Given the description of an element on the screen output the (x, y) to click on. 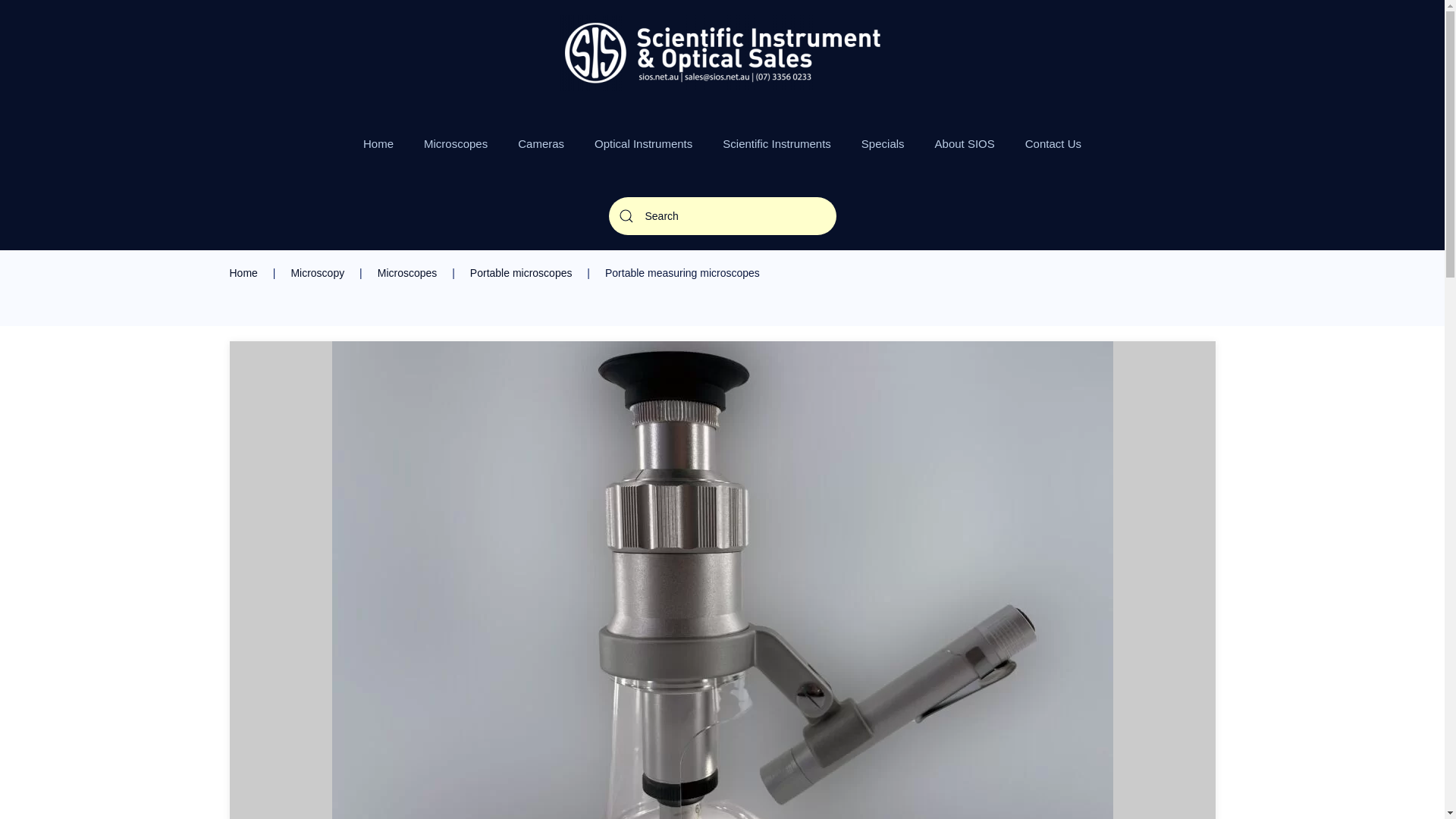
Scientific Instruments Element type: text (776, 144)
About SIOS Element type: text (964, 144)
Microscopes Element type: text (407, 272)
Cameras Element type: text (540, 144)
Portable microscopes Element type: text (521, 272)
Specials Element type: text (882, 144)
Microscopes Element type: text (455, 144)
Optical Instruments Element type: text (643, 144)
Home Element type: text (378, 144)
Contact Us Element type: text (1053, 144)
Home Element type: text (243, 272)
Microscopy Element type: text (317, 272)
